Given the description of an element on the screen output the (x, y) to click on. 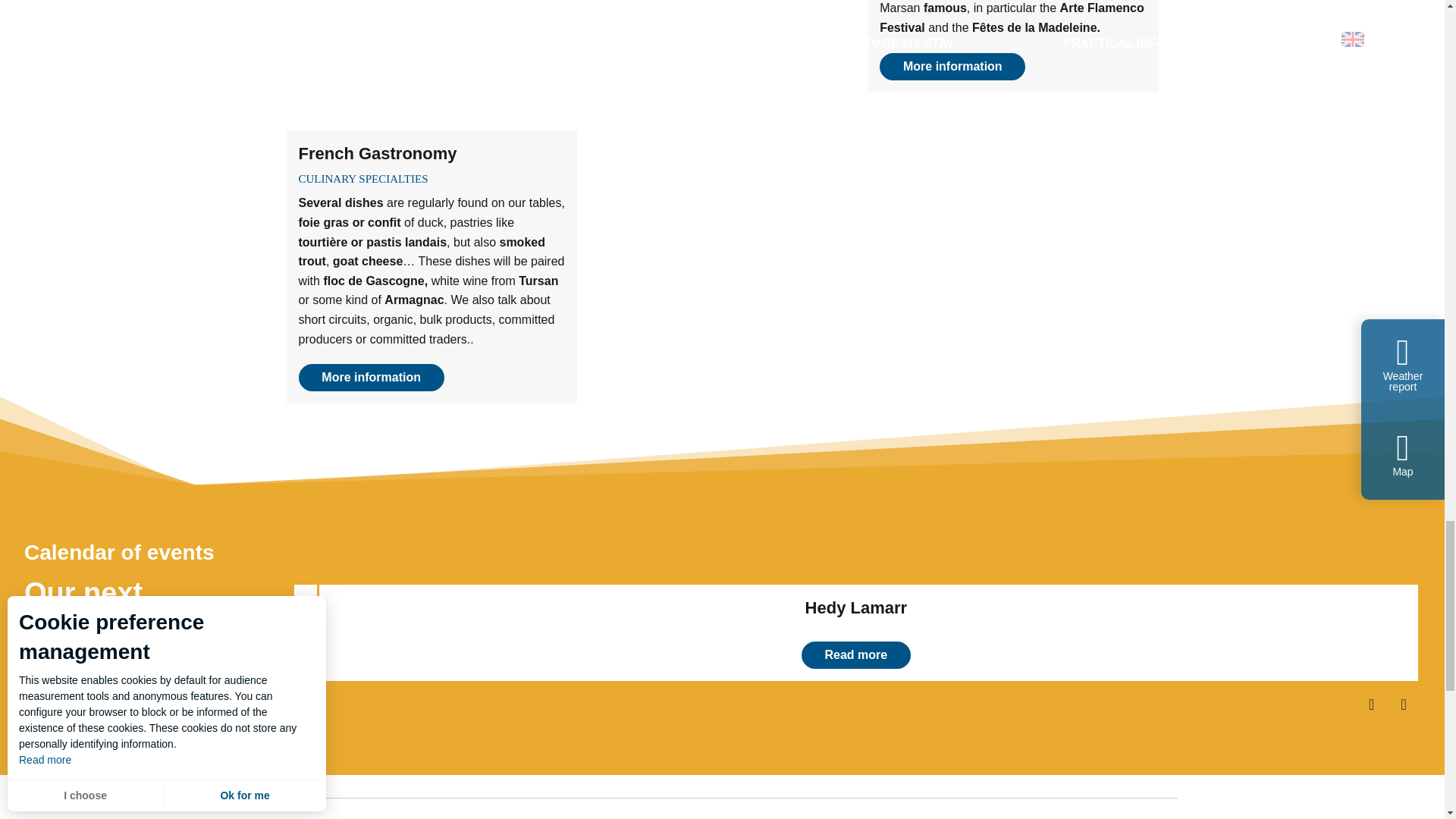
See the entire agenda (856, 632)
